Given the description of an element on the screen output the (x, y) to click on. 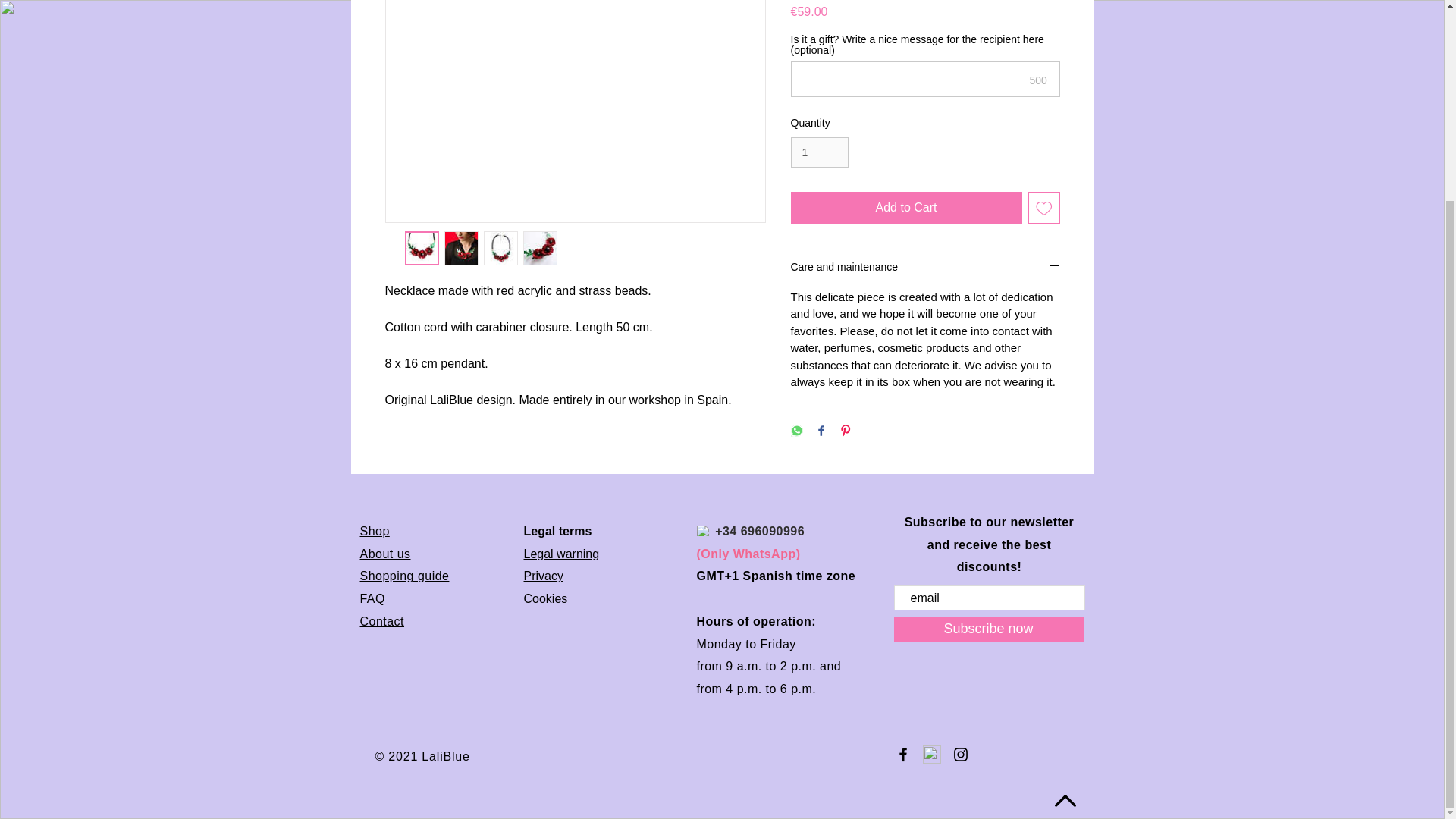
Add to Cart (906, 207)
Cookies (544, 598)
Shop (373, 530)
Care and maintenance (924, 268)
1 (818, 152)
Shopping guide (403, 575)
Legal warning (560, 553)
Privacy (542, 575)
Subscribe now (988, 628)
FAQ (371, 598)
About us (384, 553)
Contact (381, 621)
